Given the description of an element on the screen output the (x, y) to click on. 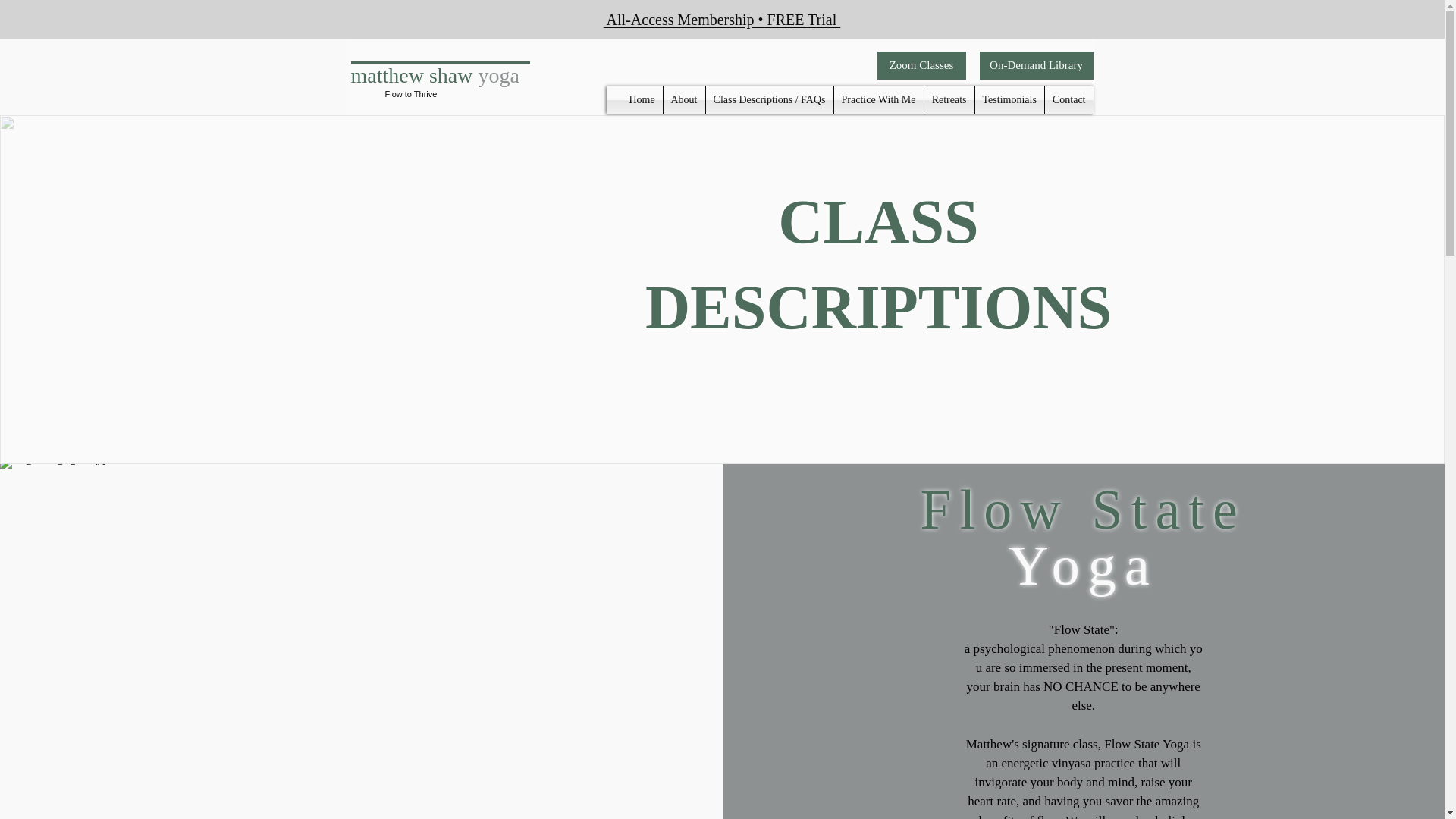
About (683, 99)
Testimonials (1009, 99)
Zoom Classes (920, 65)
Home (641, 99)
On-Demand Library (1036, 65)
Contact (1069, 99)
